Given the description of an element on the screen output the (x, y) to click on. 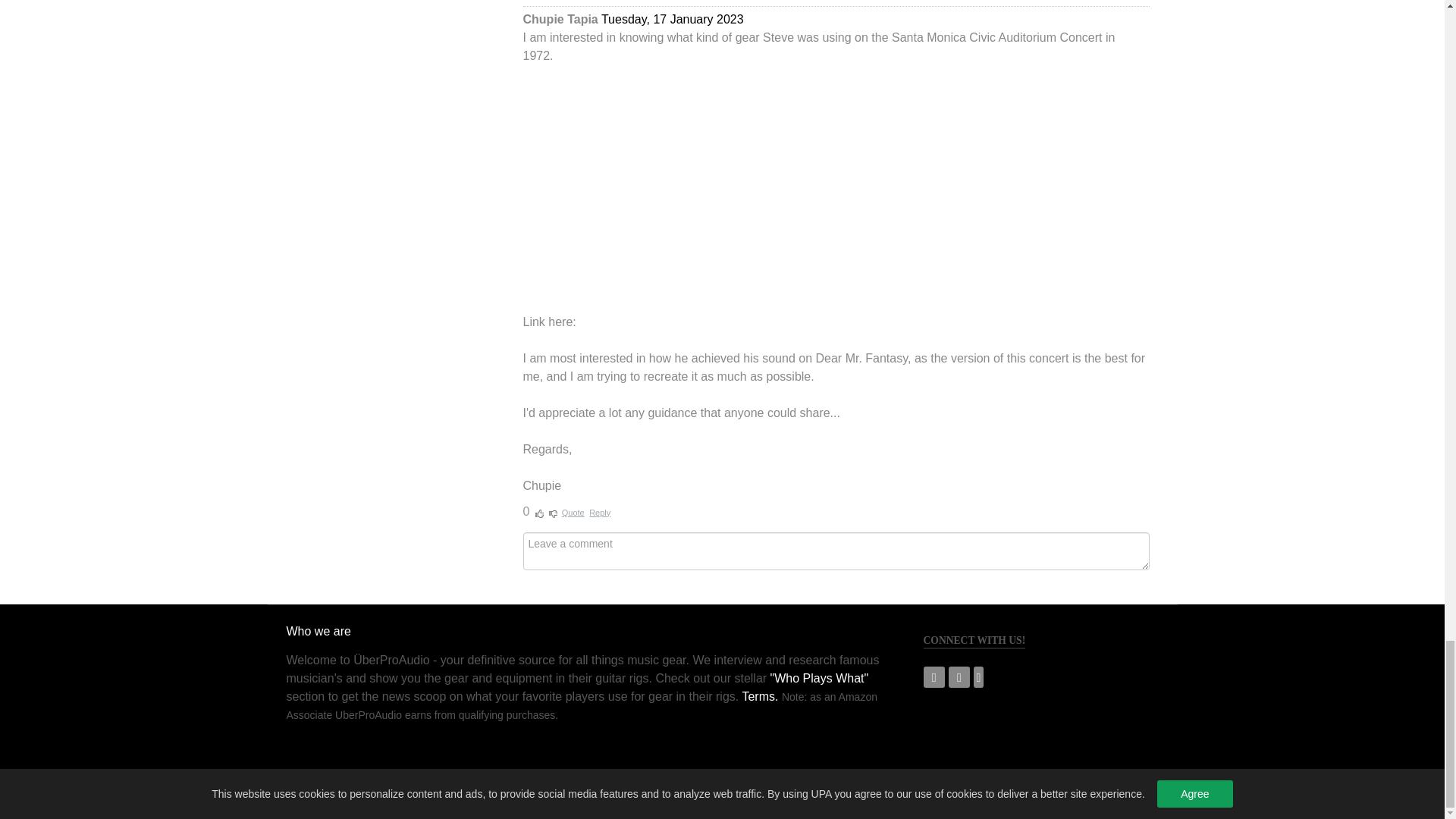
Tuesday, 17 January 2023 (672, 19)
Quote (572, 512)
